Given the description of an element on the screen output the (x, y) to click on. 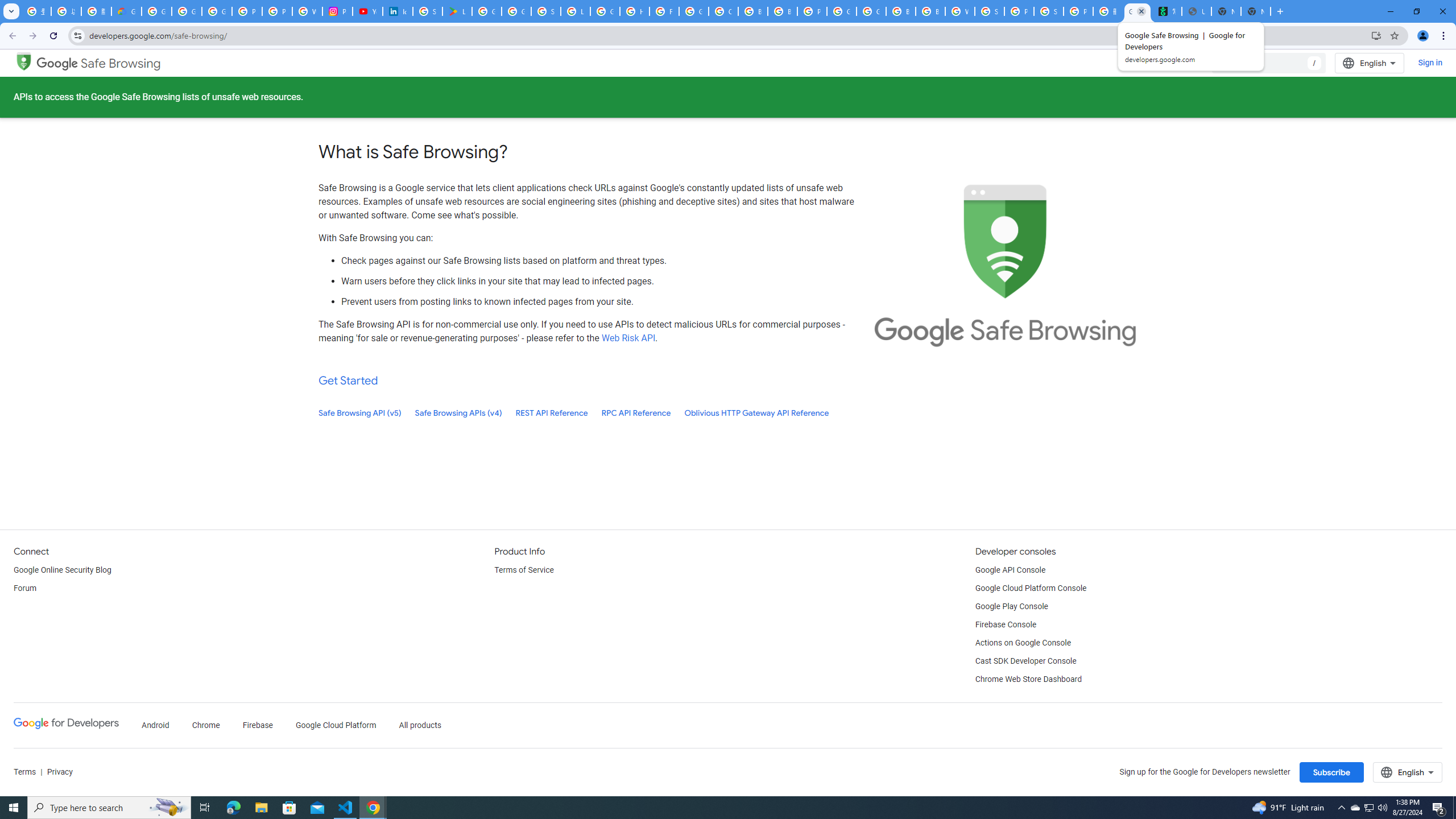
RPC API Reference (635, 412)
Subscribe (1331, 772)
Google Safe Browsing (98, 63)
Google Cloud Platform (336, 725)
Safe Browsing API (v5) (360, 412)
Browse Chrome as a guest - Computer - Google Chrome Help (900, 11)
